Given the description of an element on the screen output the (x, y) to click on. 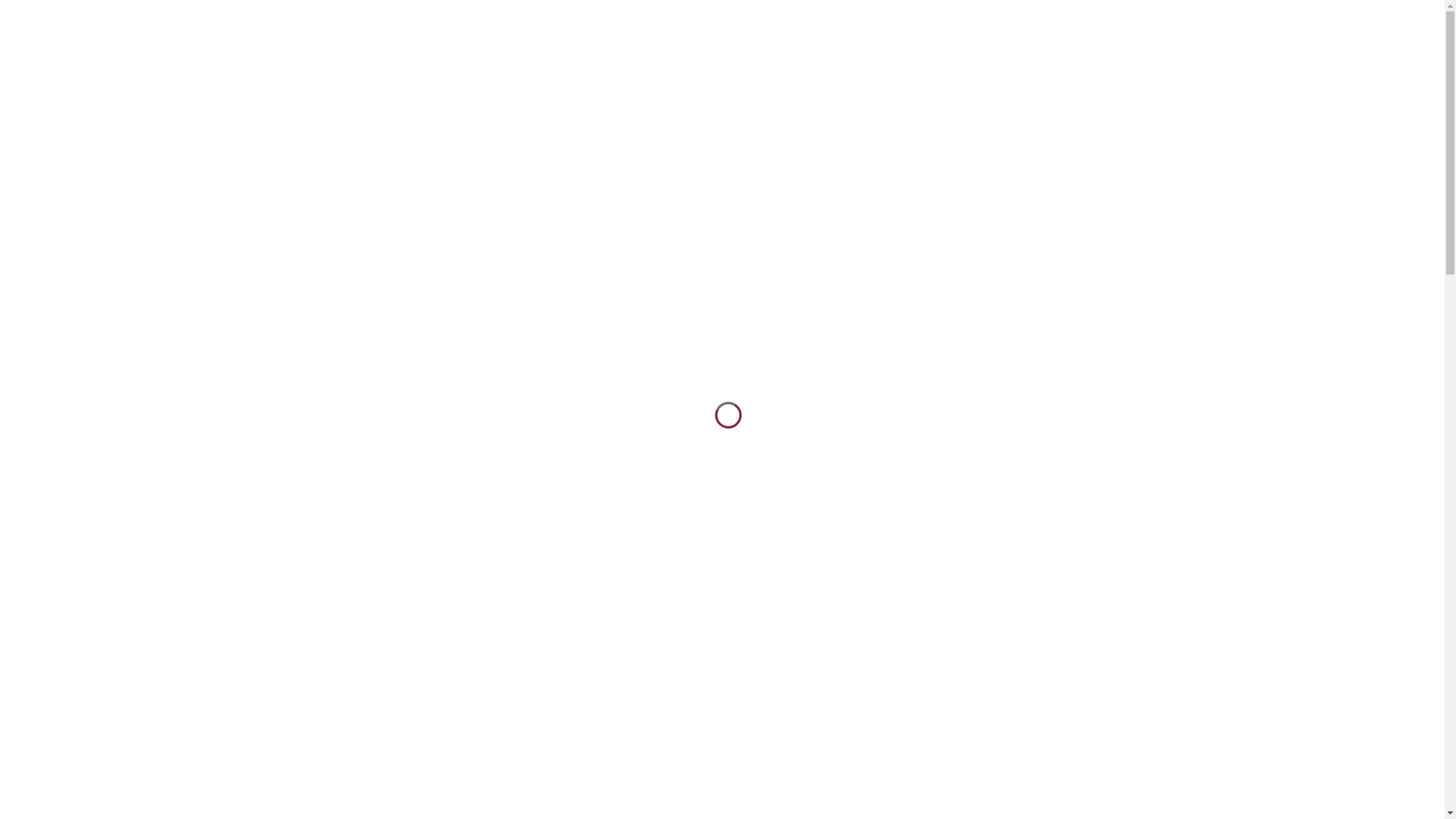
Projets de recherches Element type: text (55, 26)
Equipe Element type: text (17, 44)
Le centre Element type: text (23, 8)
Revue Phantasia Element type: text (43, 116)
PROJETS DE RECHERCHES Element type: text (687, 156)
Contact Element type: text (19, 98)
Lire la suite Element type: text (1136, 688)
LE CENTRE Element type: text (572, 156)
REVUE PHANTASIA Element type: text (1140, 156)
CONTACT Element type: text (1038, 156)
EQUIPE Element type: text (796, 156)
Agenda Element type: text (19, 80)
PUBLICATIONS Element type: text (879, 156)
AGENDA Element type: text (964, 156)
Publications Element type: text (31, 62)
